Given the description of an element on the screen output the (x, y) to click on. 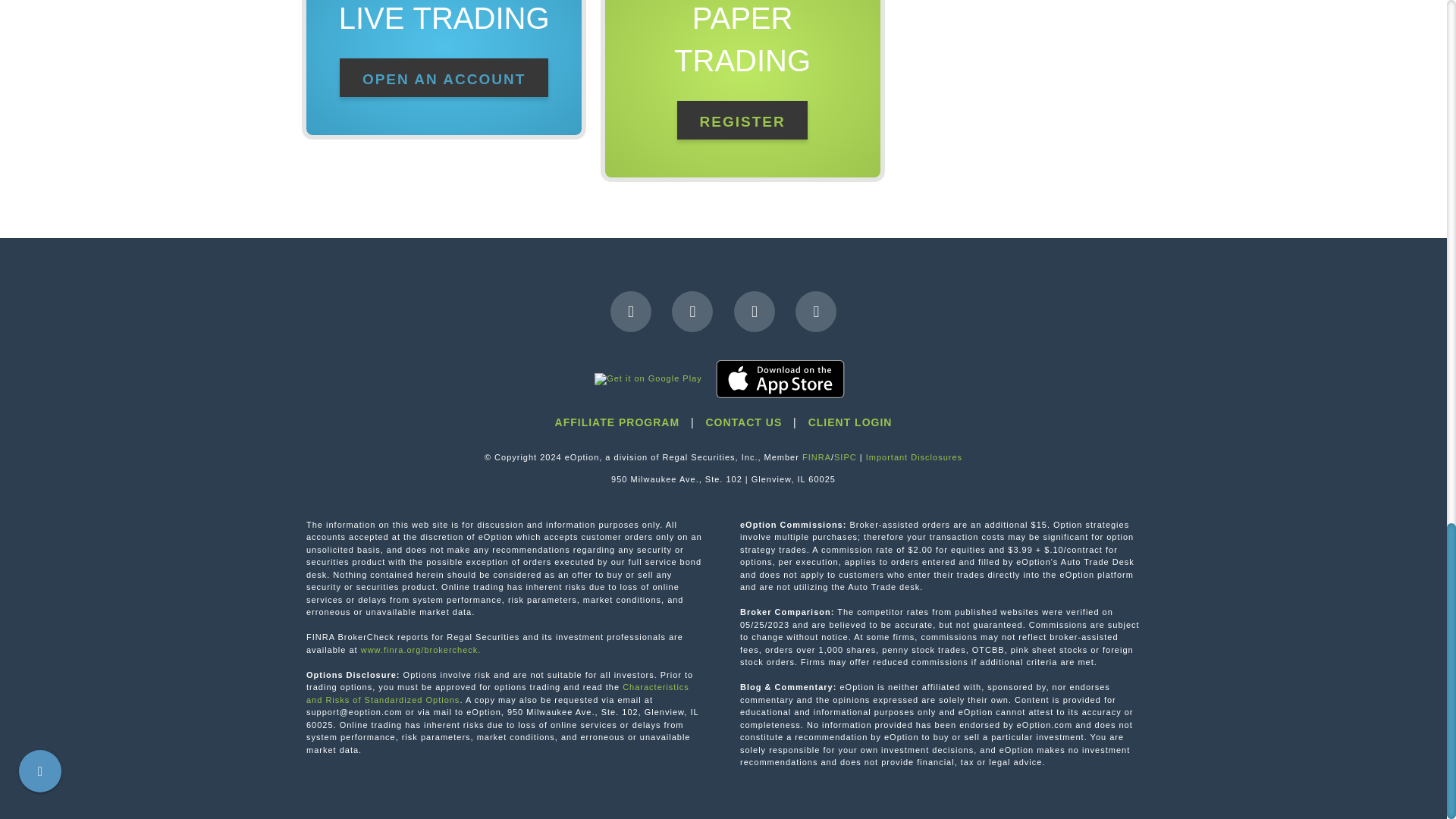
LinkedIn (753, 311)
YouTube (814, 311)
Twitter (692, 311)
Facebook (630, 311)
